Given the description of an element on the screen output the (x, y) to click on. 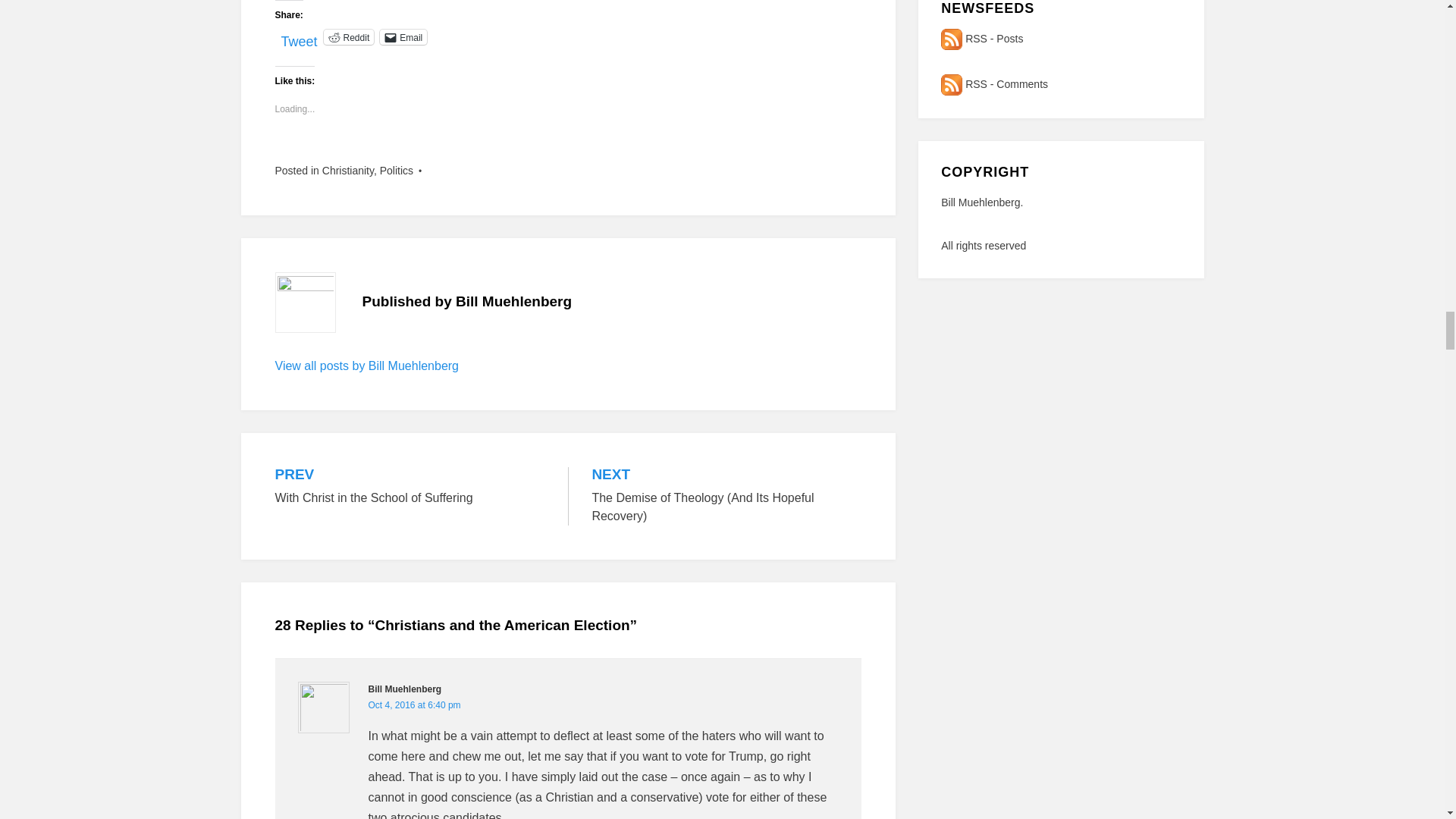
Reddit (348, 37)
Tweet (299, 36)
Politics (396, 170)
Email (403, 37)
Christianity (347, 170)
